Given the description of an element on the screen output the (x, y) to click on. 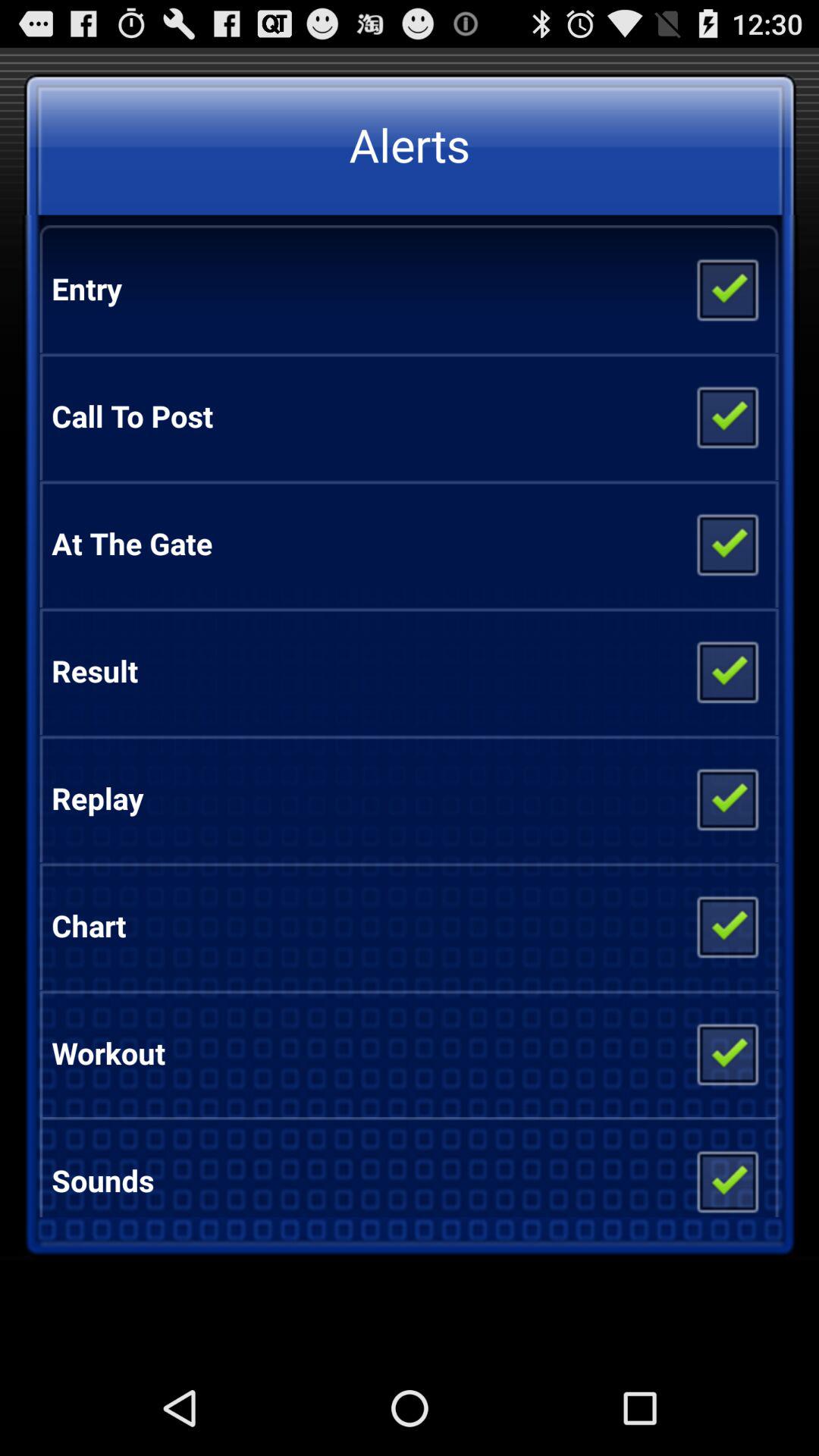
tap icon next to result (726, 670)
